Given the description of an element on the screen output the (x, y) to click on. 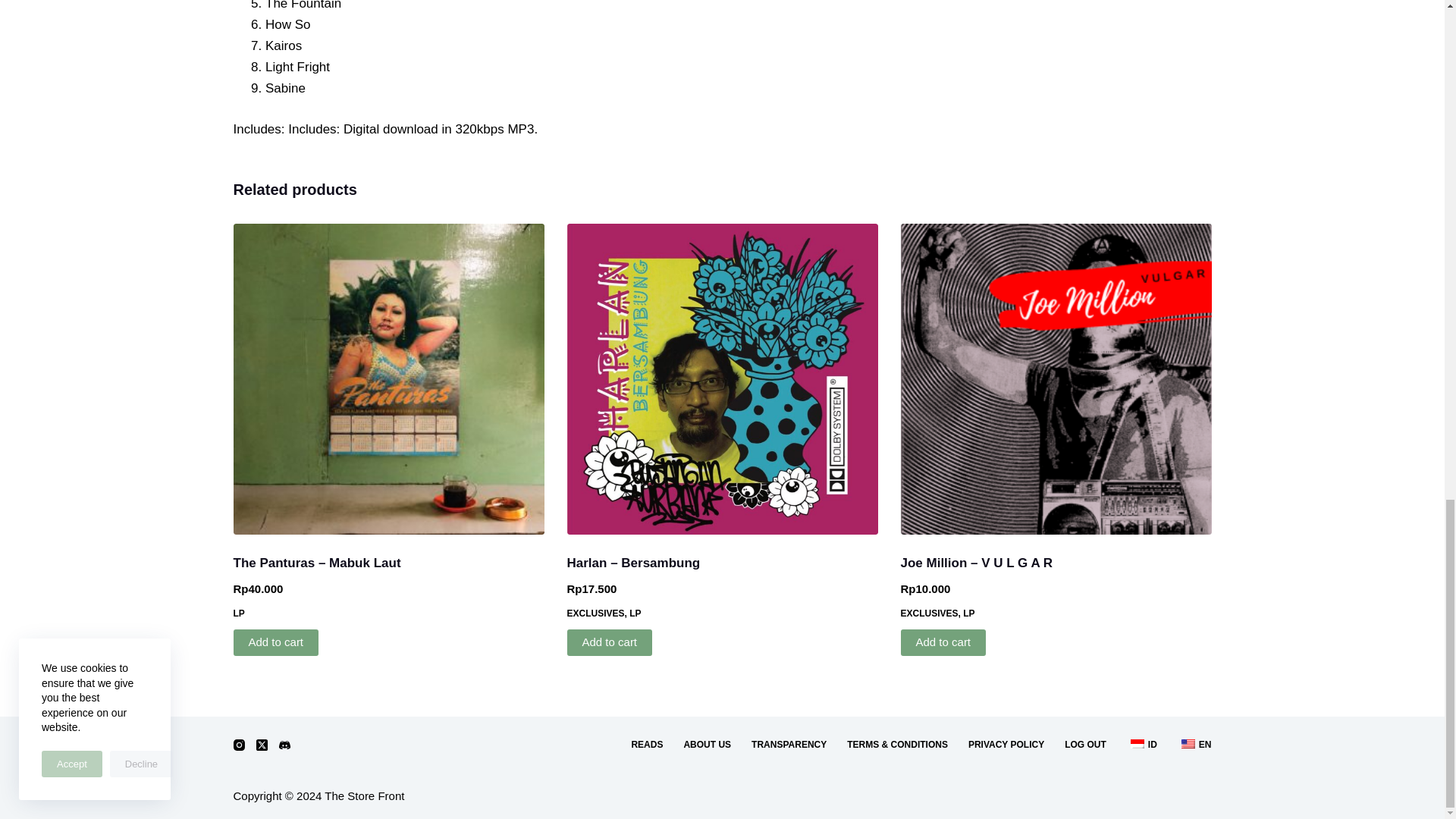
Minimum qty is 1 (609, 642)
Minimum qty is 1 (275, 642)
Joe-Million-VULGAR-min (1056, 378)
Harlan - Bersambung (722, 378)
Indonesian (1137, 743)
English (1187, 743)
Minimum qty is 1 (944, 642)
